Given the description of an element on the screen output the (x, y) to click on. 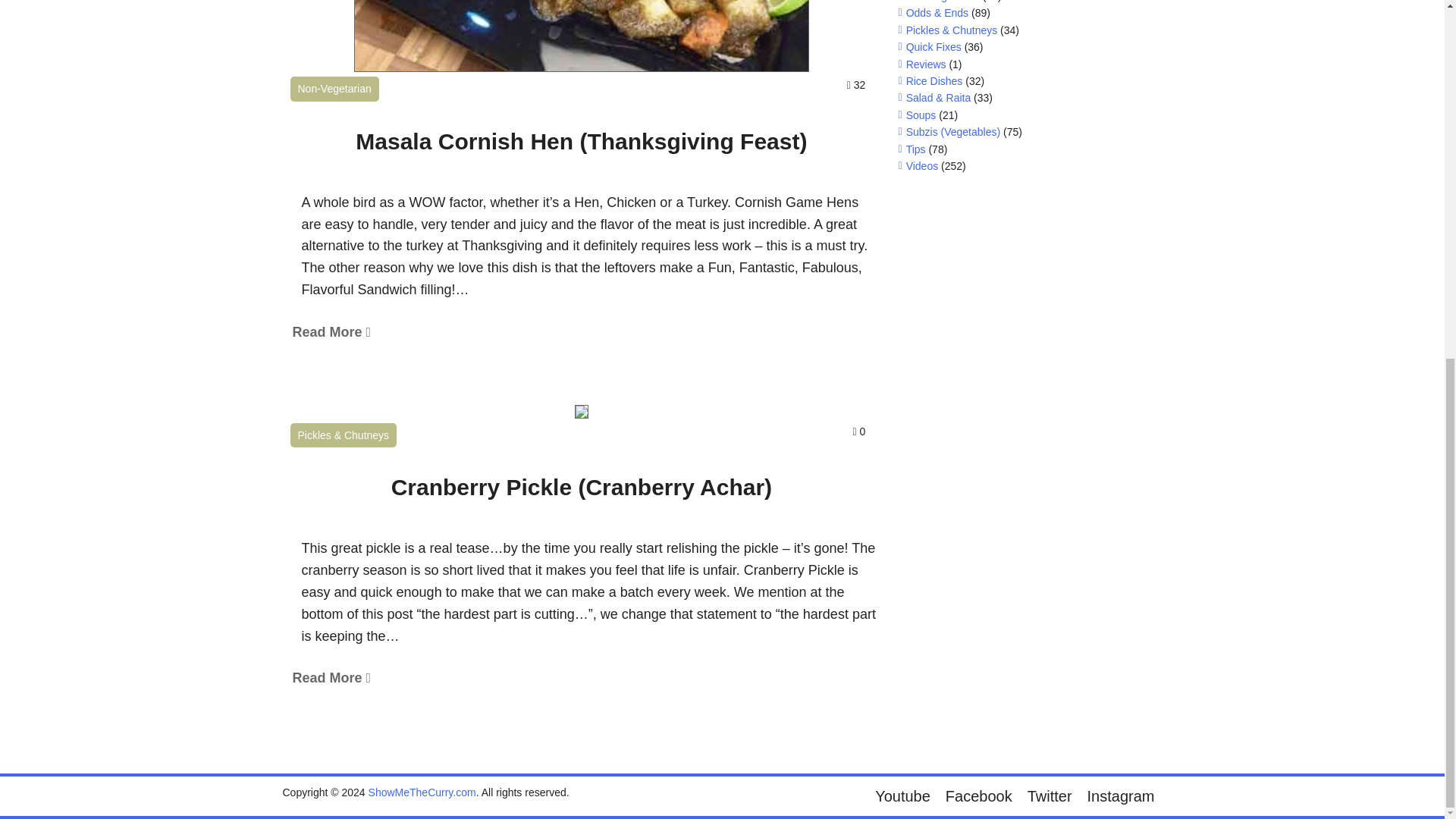
Read More (331, 332)
32 (856, 84)
Non-veg recipies and podcasts (942, 1)
Non-Vegetarian (333, 88)
